Given the description of an element on the screen output the (x, y) to click on. 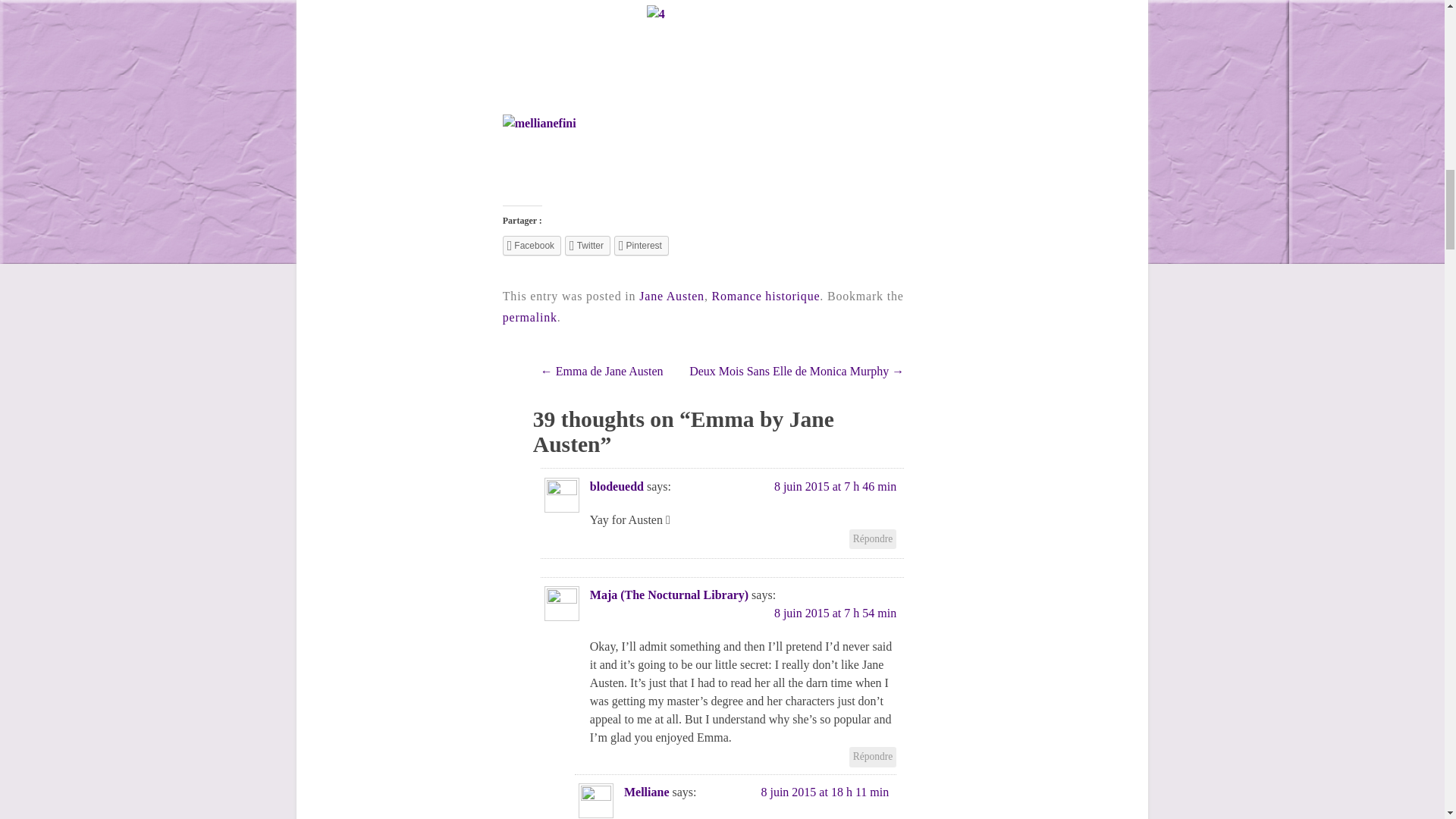
Permalink to Emma by Jane Austen (529, 317)
8 juin 2015 at 7 h 46 min (835, 486)
permalink (529, 317)
blodeuedd (616, 486)
Cliquez pour partager sur Facebook (531, 245)
Romance historique (766, 295)
Cliquez pour partager sur Pinterest (641, 245)
Twitter (587, 245)
8 juin 2015 at 7 h 54 min (835, 612)
Pinterest (641, 245)
Cliquez pour partager sur Twitter (587, 245)
Facebook (531, 245)
Jane Austen (671, 295)
